Given the description of an element on the screen output the (x, y) to click on. 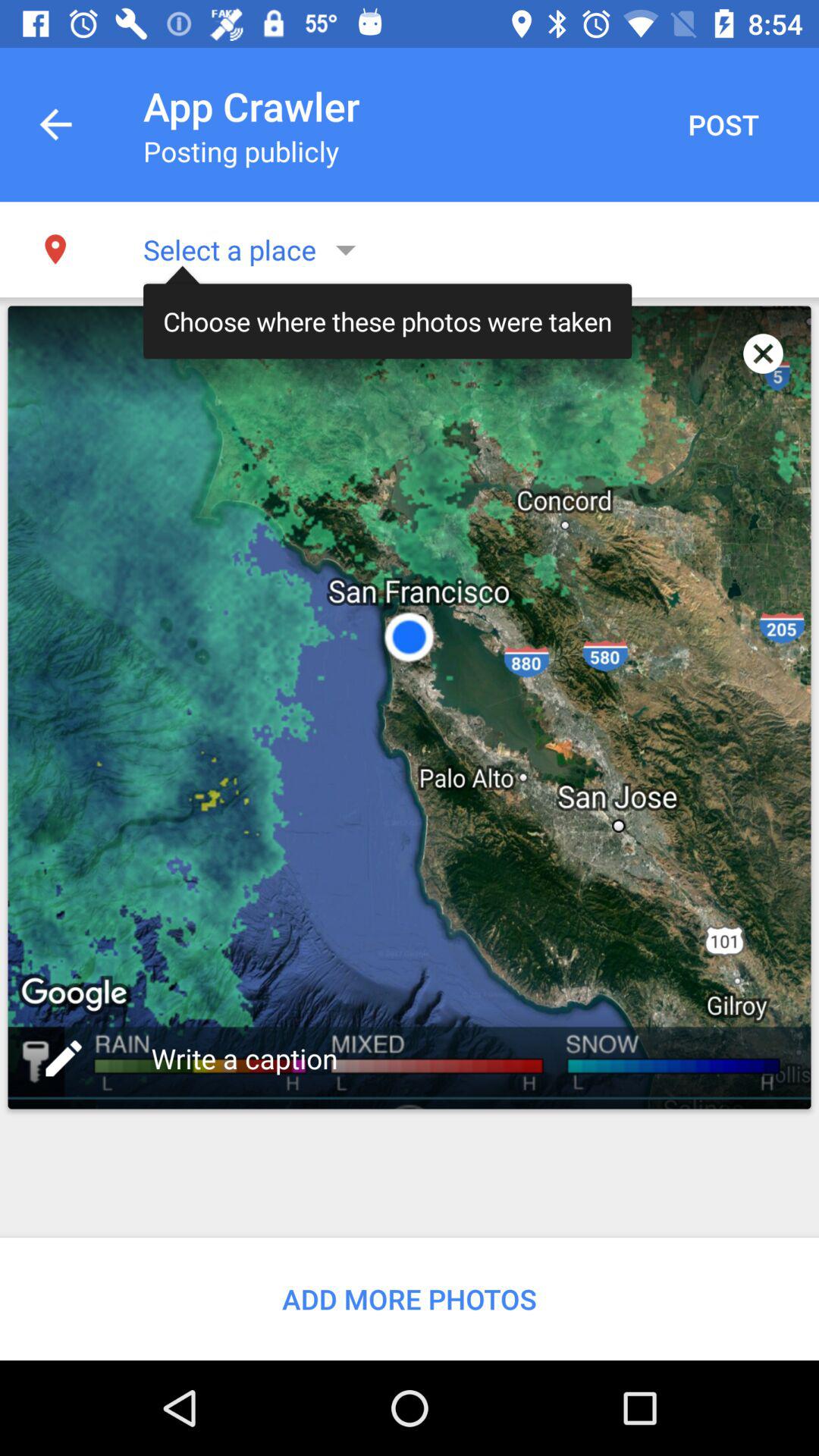
turn on the item next to app crawler item (55, 124)
